Given the description of an element on the screen output the (x, y) to click on. 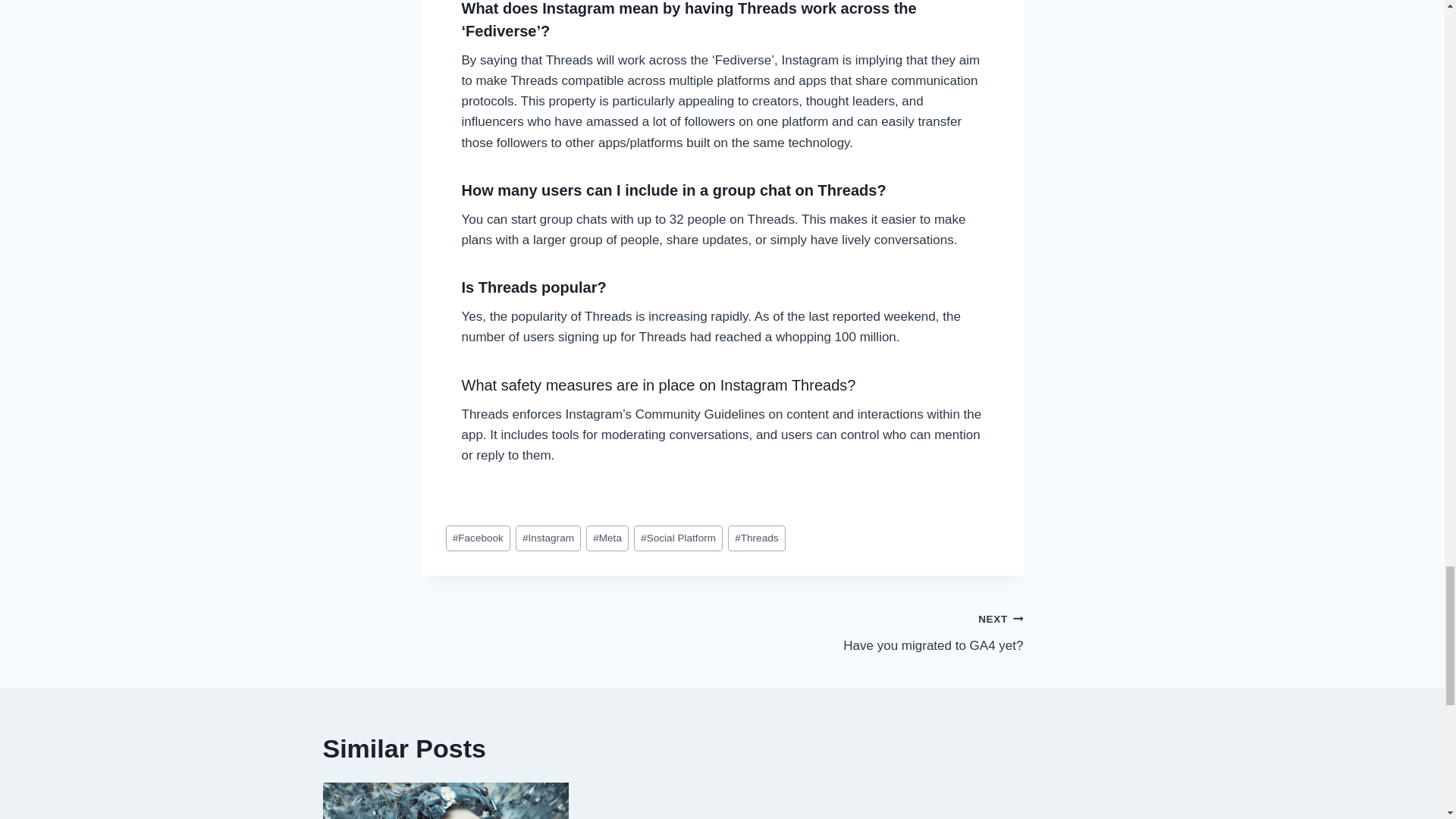
Social Platform (677, 538)
Facebook (478, 538)
Instagram (547, 538)
Meta (607, 538)
Threads (757, 538)
